Given the description of an element on the screen output the (x, y) to click on. 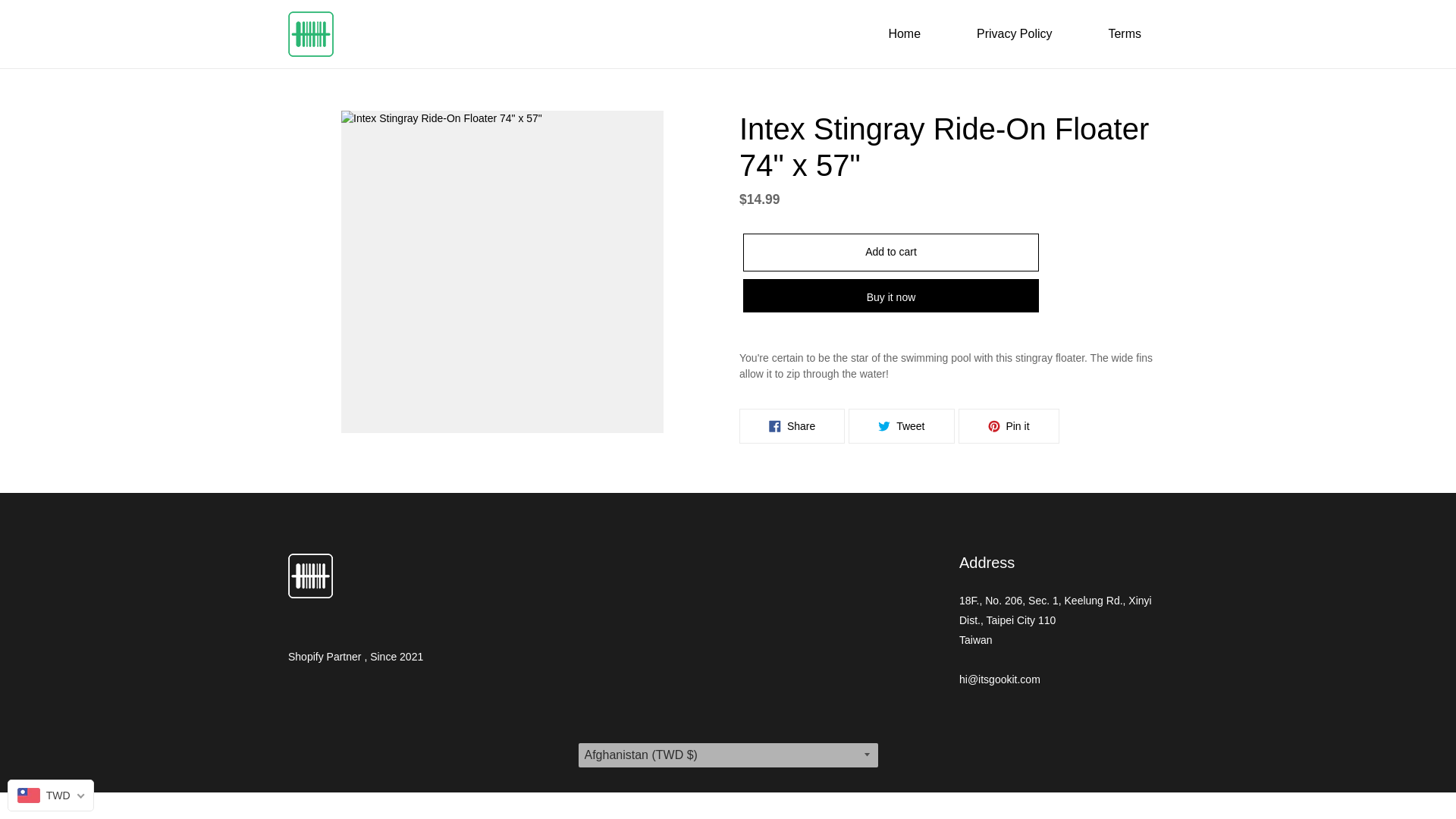
Terms (1008, 425)
Home (1124, 33)
Buy it now (900, 425)
Privacy Policy (904, 33)
Add to cart (890, 295)
